Given the description of an element on the screen output the (x, y) to click on. 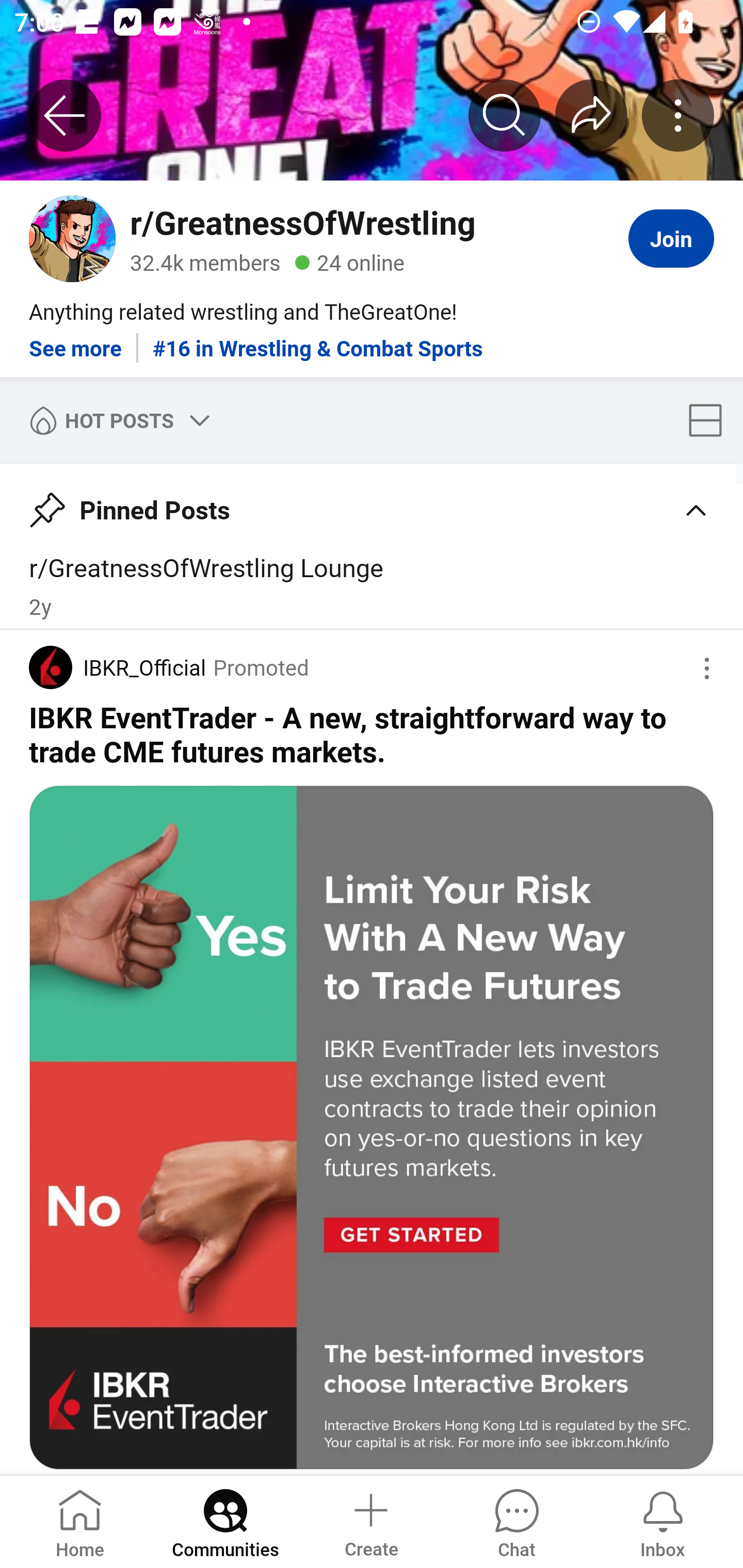
Back (64, 115)
Search r/﻿GreatnessOfWrestling (504, 115)
Share r/﻿GreatnessOfWrestling (591, 115)
More community actions (677, 115)
See more (74, 340)
#16 in Wrestling & Combat Sports (318, 340)
HOT POSTS Sort by Hot posts (115, 420)
Card display (711, 420)
Pin Pinned Posts Caret (371, 503)
r/GreatnessOfWrestling Lounge 2y (371, 585)
Author IBKR_Official (116, 666)
Image (371, 1127)
Home (80, 1520)
Communities (225, 1520)
Create a post Create (370, 1520)
Chat (516, 1520)
Inbox (662, 1520)
